Given the description of an element on the screen output the (x, y) to click on. 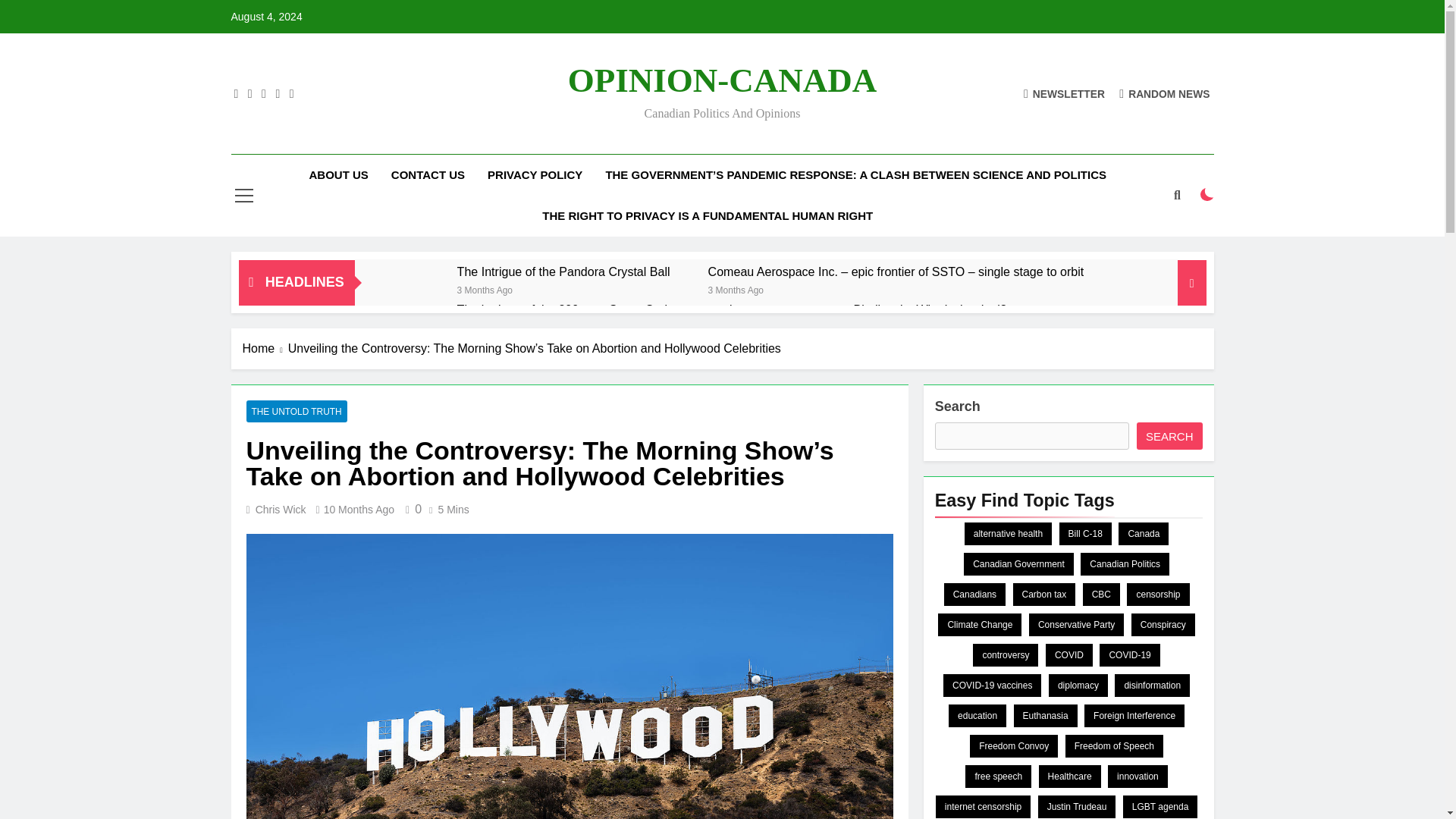
The Intrigue of the Pandora Crystal Ball (413, 291)
THE RIGHT TO PRIVACY IS A FUNDAMENTAL HUMAN RIGHT (707, 215)
The Intrigue of the Pandora Crystal Ball (563, 271)
PRIVACY POLICY (535, 174)
3 Months Ago (734, 288)
CONTACT US (428, 174)
on (1206, 194)
The intrigue of the 200 mpg Super Carburetor continues (607, 309)
RANDOM NEWS (1164, 92)
OPINION-CANADA (721, 80)
The intrigue of the 200 mpg Super Carburetor continues (413, 329)
NEWSLETTER (1064, 92)
ABOUT US (337, 174)
The intrigue of the 200 mpg Super Carburetor continues (607, 309)
3 Months Ago (484, 288)
